Given the description of an element on the screen output the (x, y) to click on. 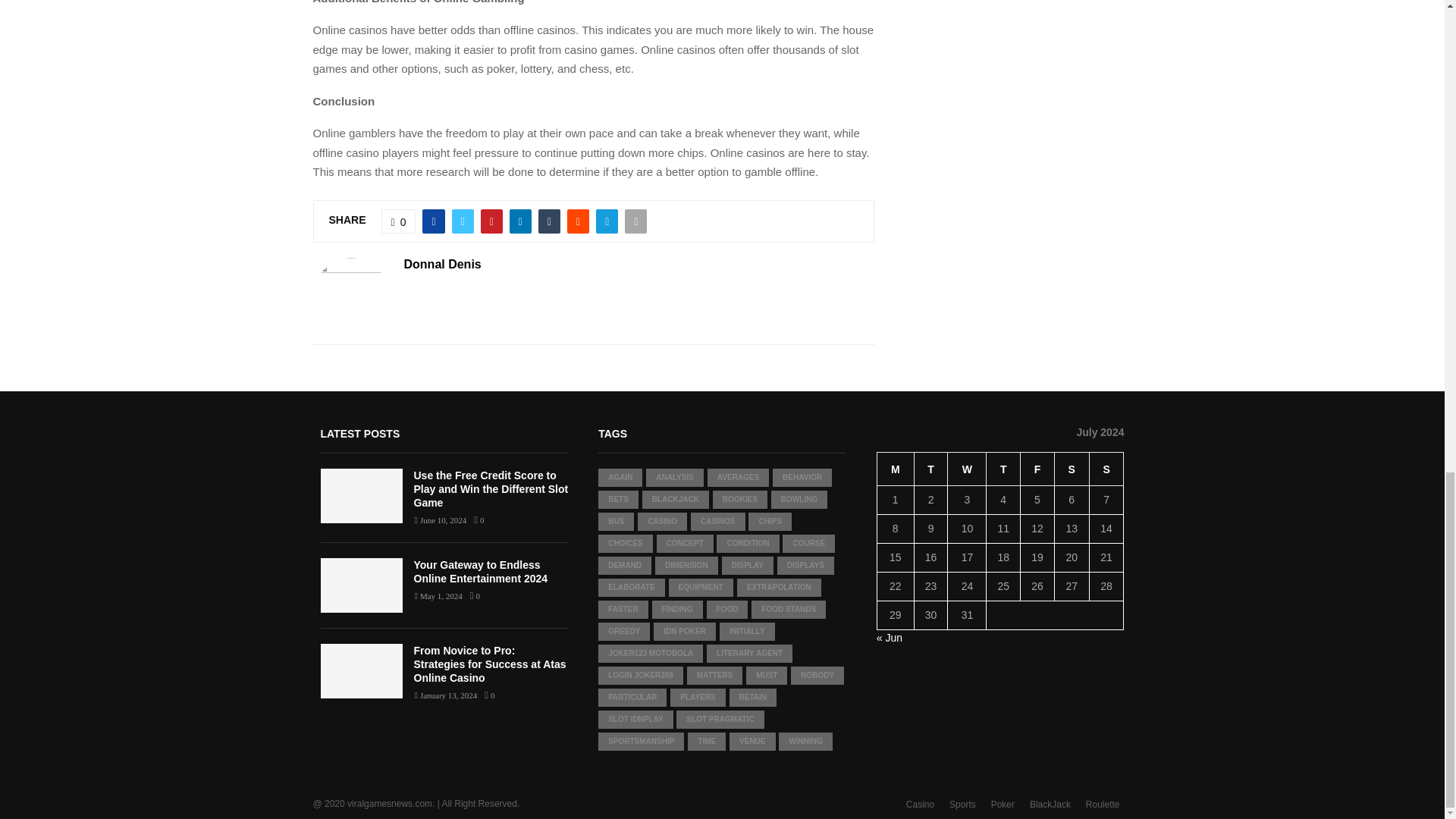
0 (398, 221)
Like (398, 221)
